Given the description of an element on the screen output the (x, y) to click on. 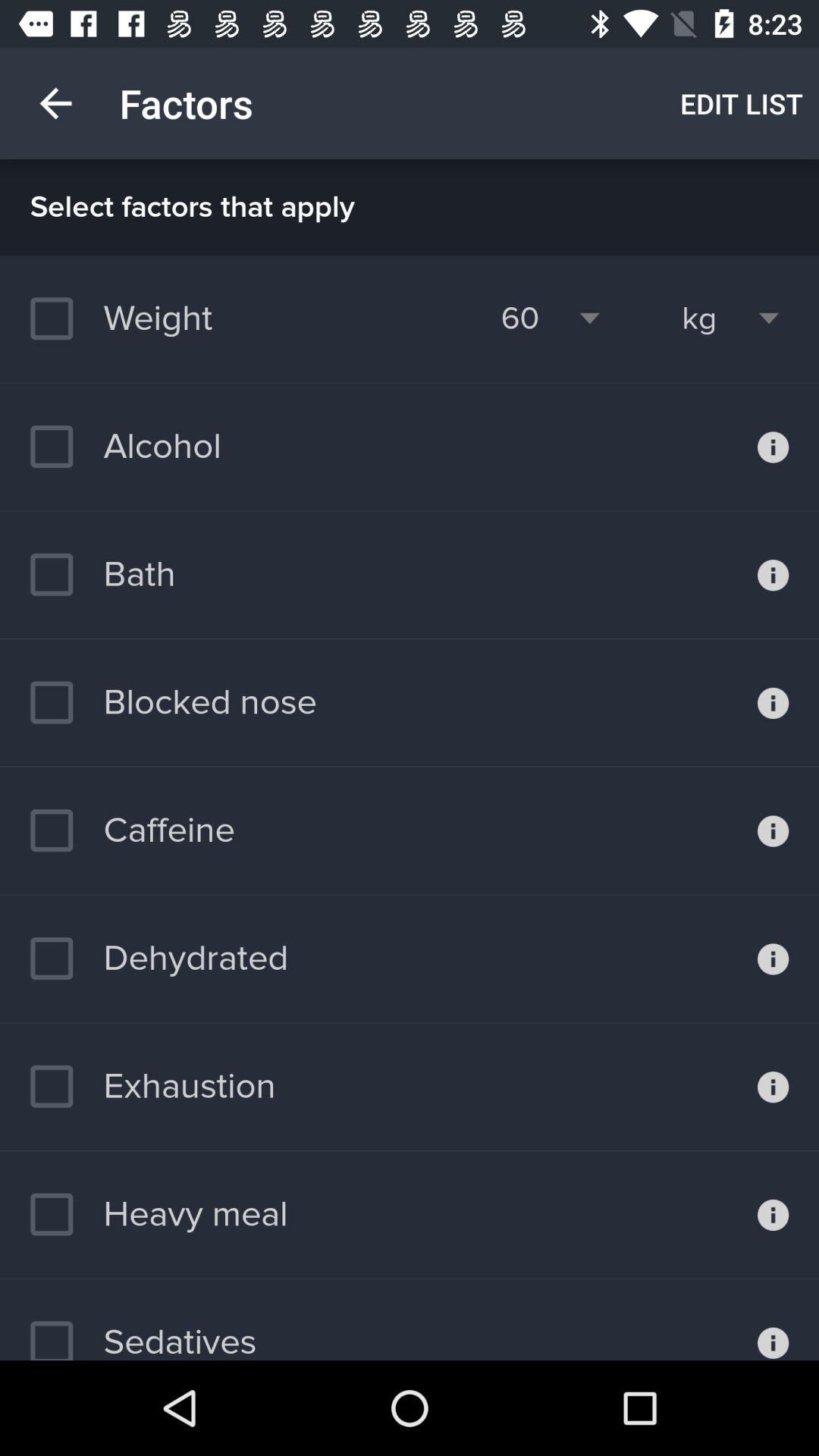
more information (773, 830)
